Given the description of an element on the screen output the (x, y) to click on. 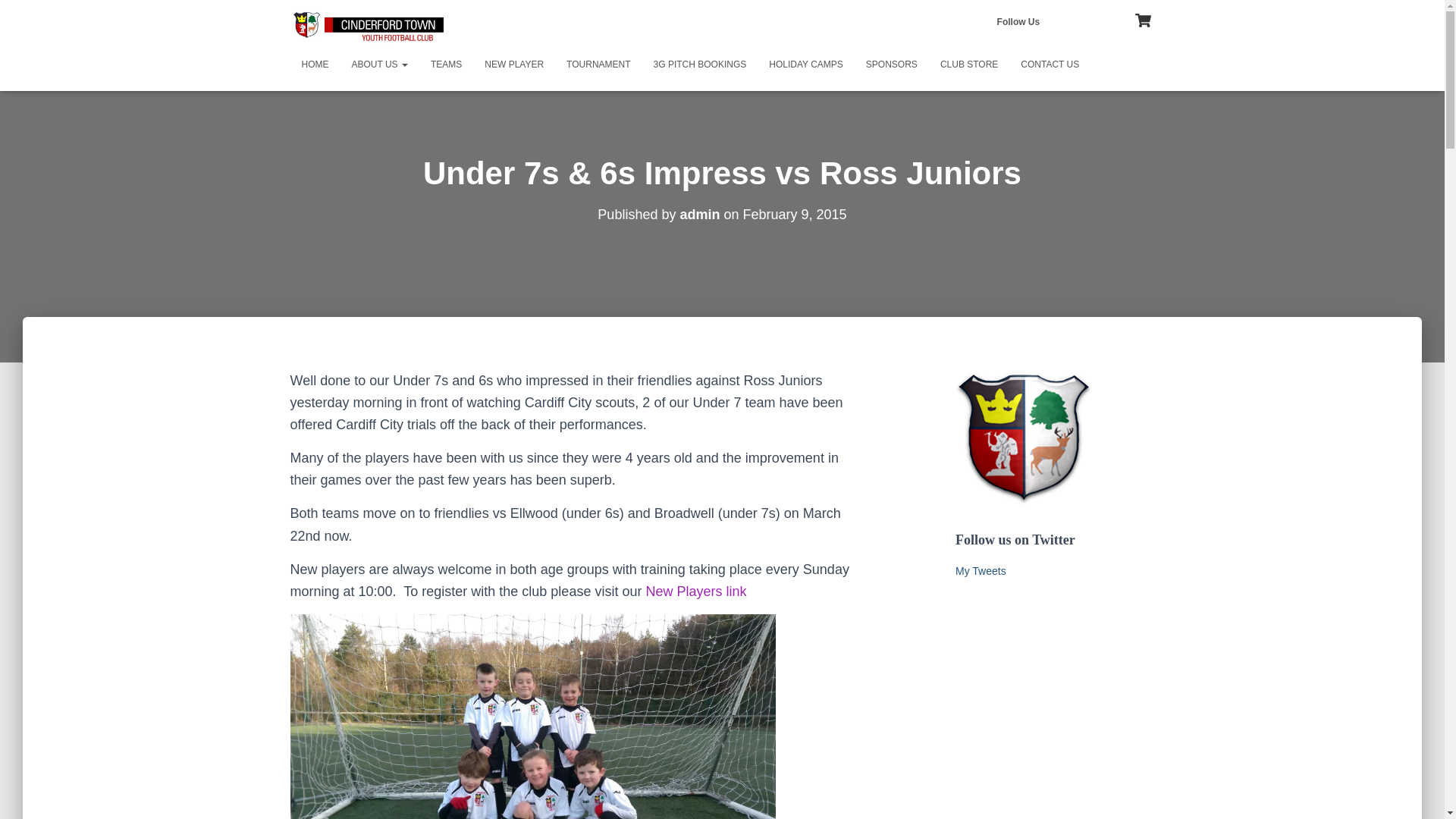
Teams (446, 64)
Holiday Camps (805, 64)
TEAMS (446, 64)
Contact Us (1049, 64)
Tournament (598, 64)
New Players (695, 590)
Sponsors (891, 64)
Club Store (968, 64)
3G PITCH BOOKINGS (700, 64)
YouTube (1097, 19)
